Given the description of an element on the screen output the (x, y) to click on. 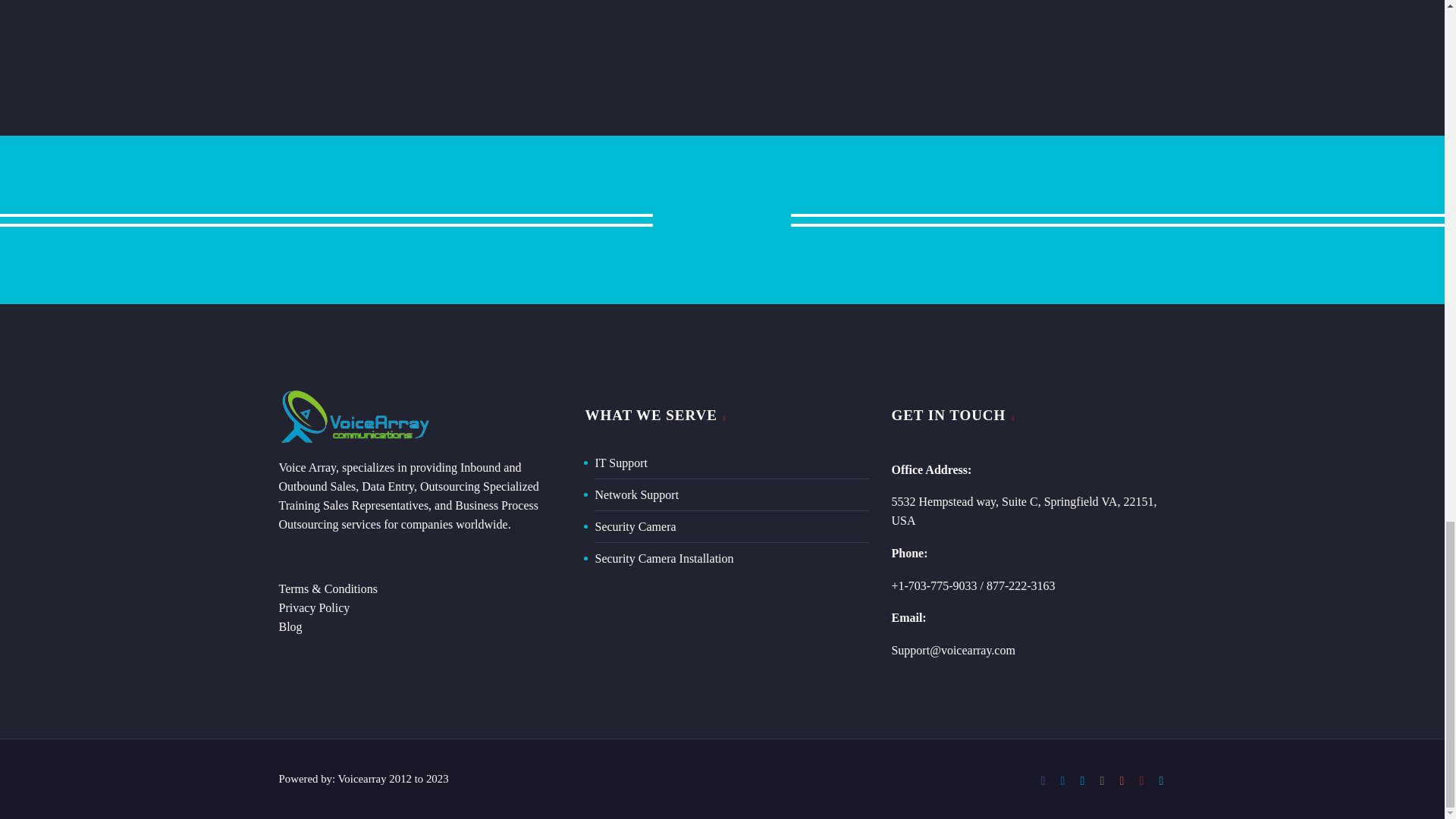
Privacy Policy (314, 607)
Pinterest (1122, 780)
Twitter (1083, 780)
Telegram (1161, 780)
Instagram (1102, 780)
Facebook (1042, 780)
LinkedIn (1062, 780)
YouTube (1141, 780)
